Given the description of an element on the screen output the (x, y) to click on. 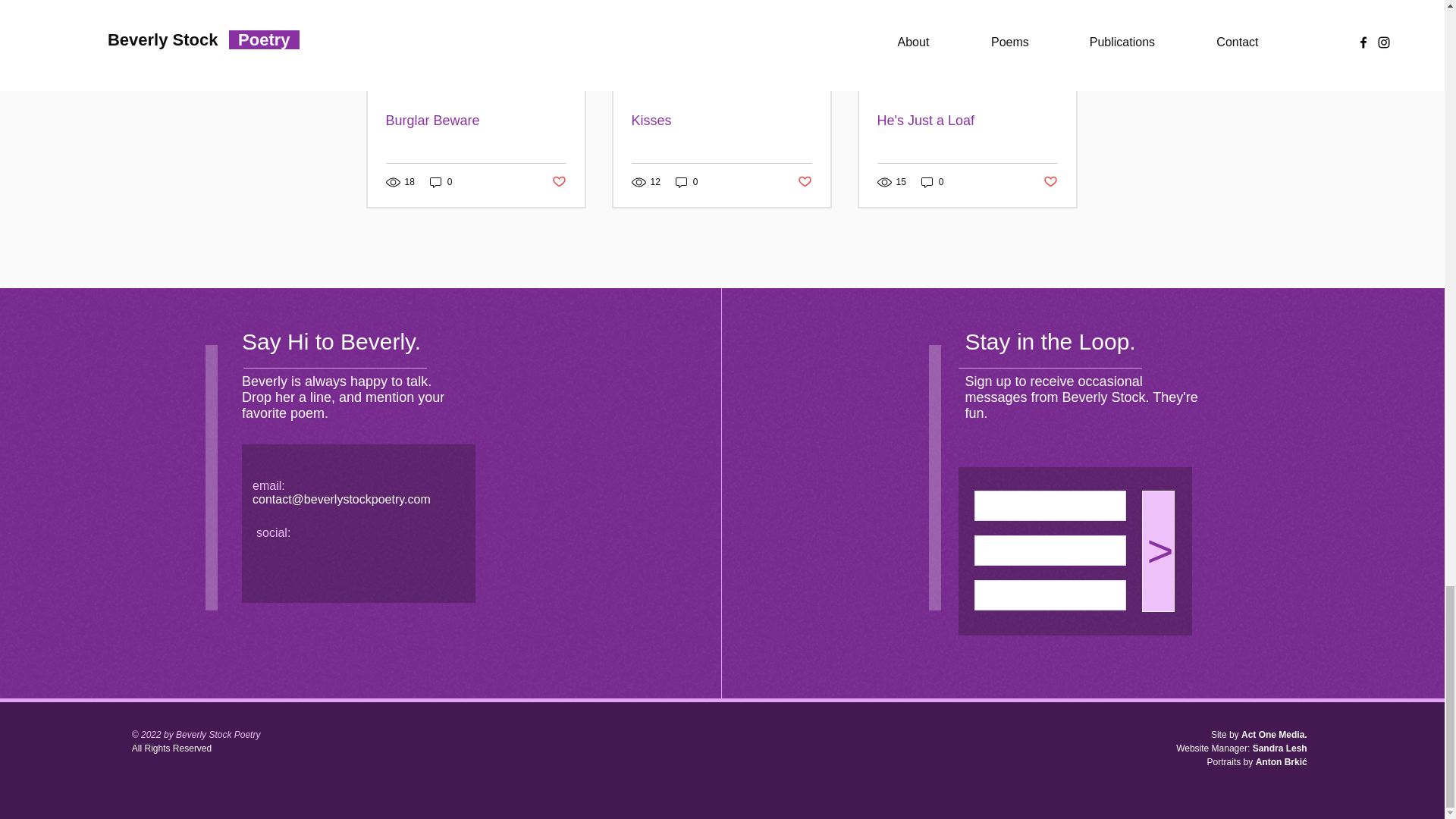
Post not marked as liked (558, 182)
Burglar Beware (475, 120)
0 (687, 182)
Post not marked as liked (1050, 182)
0 (932, 182)
Kisses (720, 120)
Post not marked as liked (804, 182)
He's Just a Loaf (966, 120)
0 (441, 182)
